Given the description of an element on the screen output the (x, y) to click on. 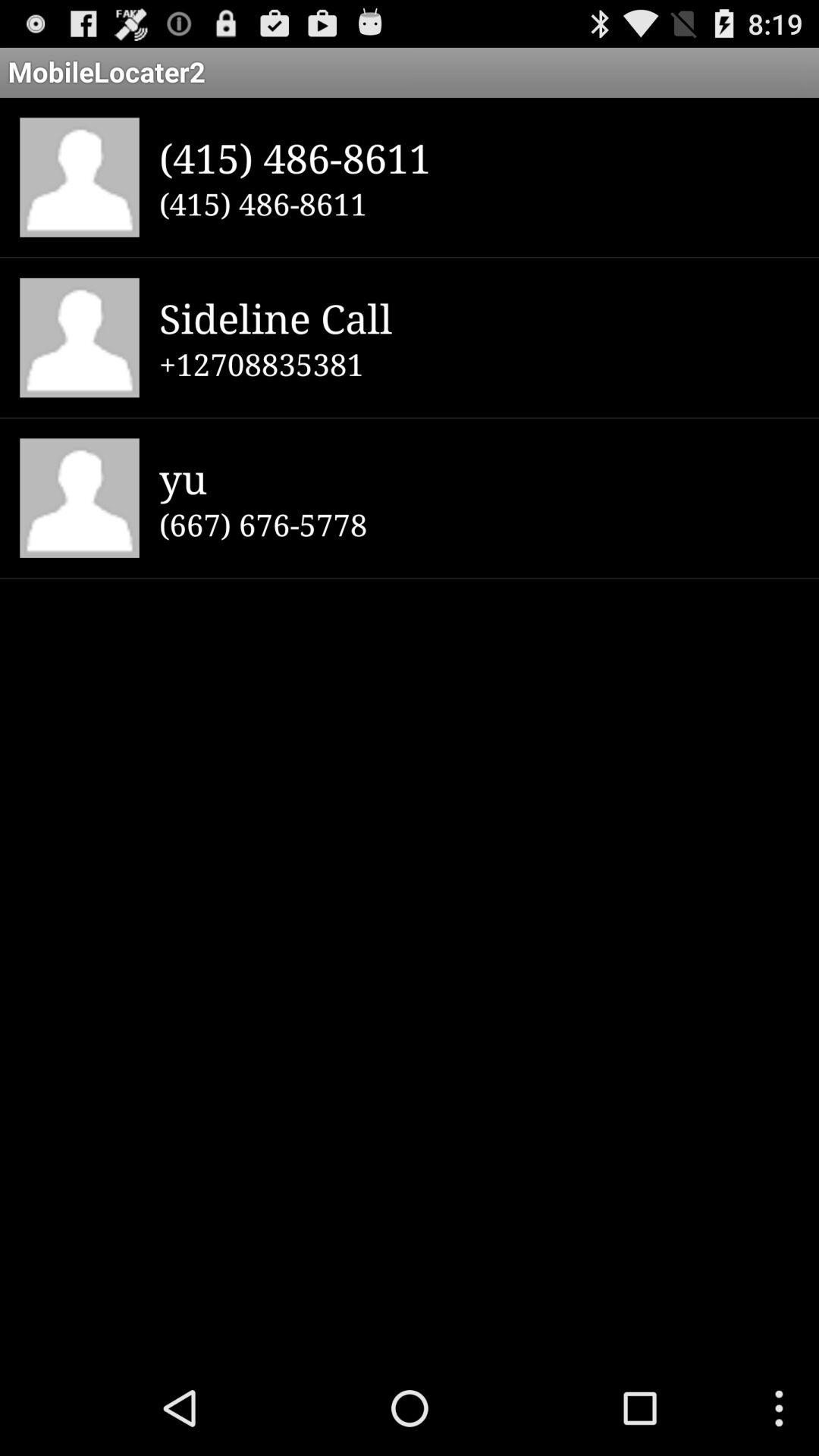
flip to the sideline call icon (479, 317)
